Given the description of an element on the screen output the (x, y) to click on. 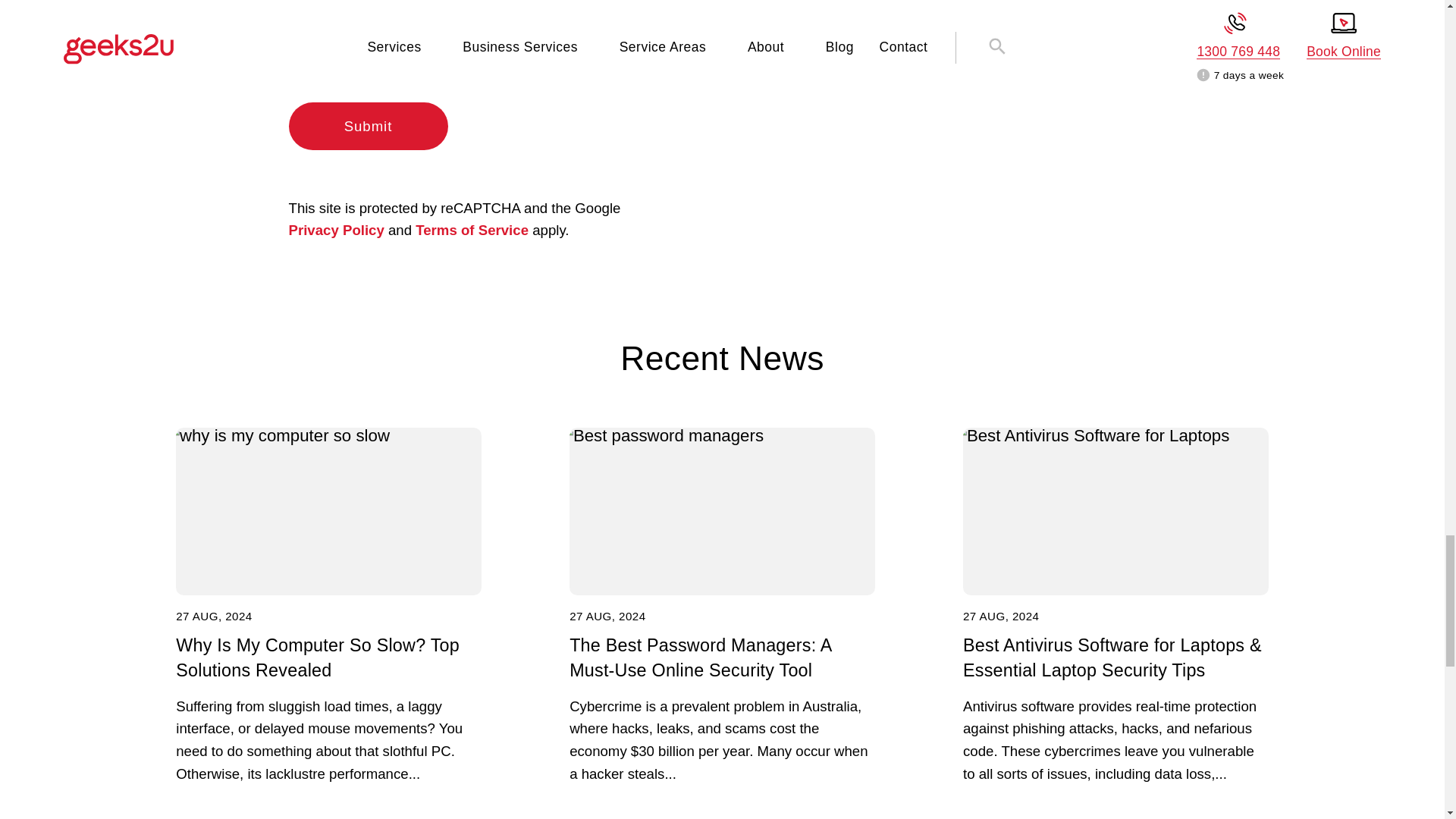
Why Is My Computer So Slow? Top Solutions Revealed (328, 511)
Submit (367, 125)
The Best Password Managers: A Must-Use Online Security Tool (722, 511)
